Given the description of an element on the screen output the (x, y) to click on. 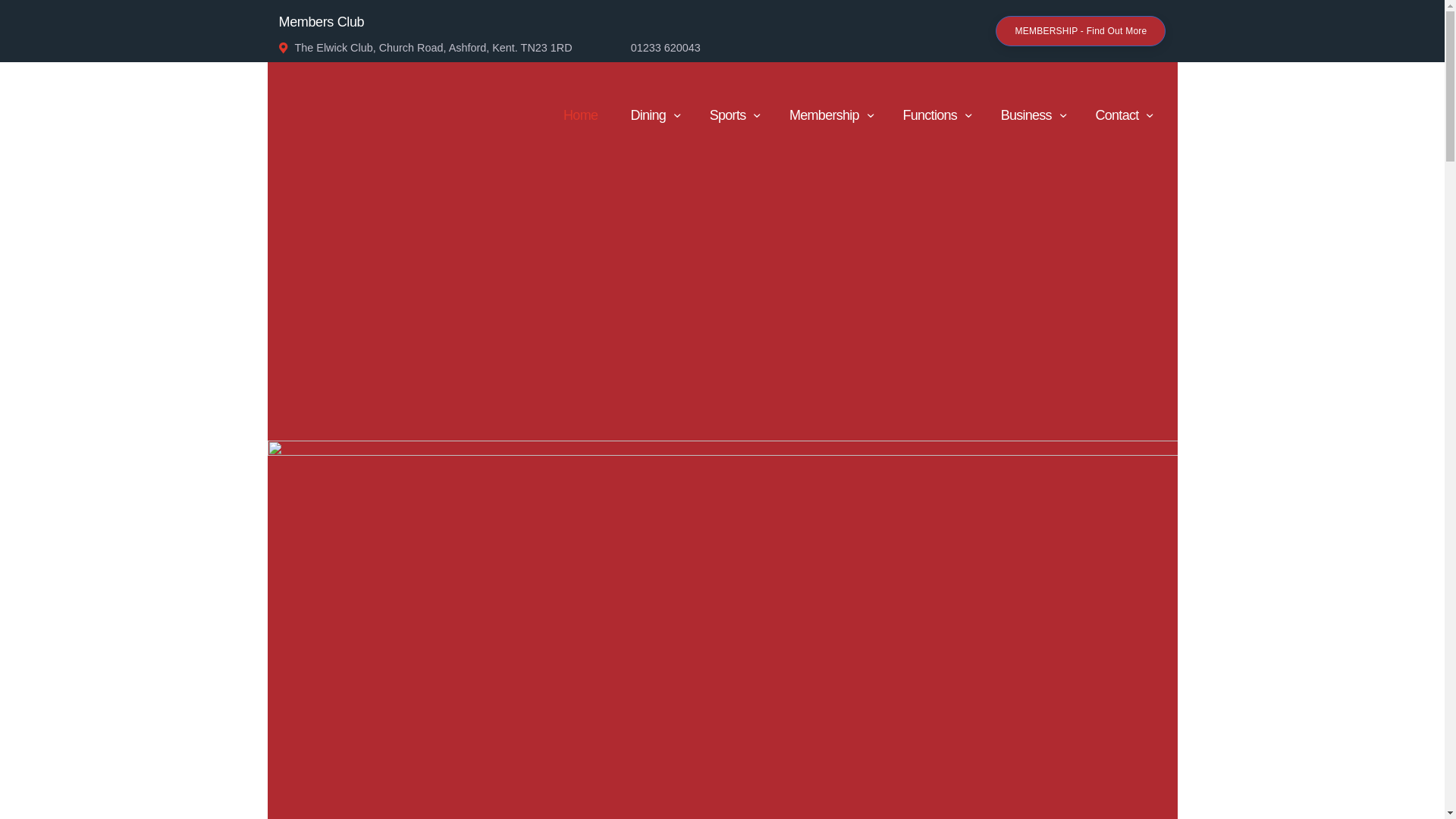
Functions (935, 115)
Membership (829, 115)
Sports (733, 115)
Contact (1122, 115)
Dining (653, 115)
MEMBERSHIP - Find Out More (1080, 30)
Business (1031, 115)
Home (580, 115)
